Given the description of an element on the screen output the (x, y) to click on. 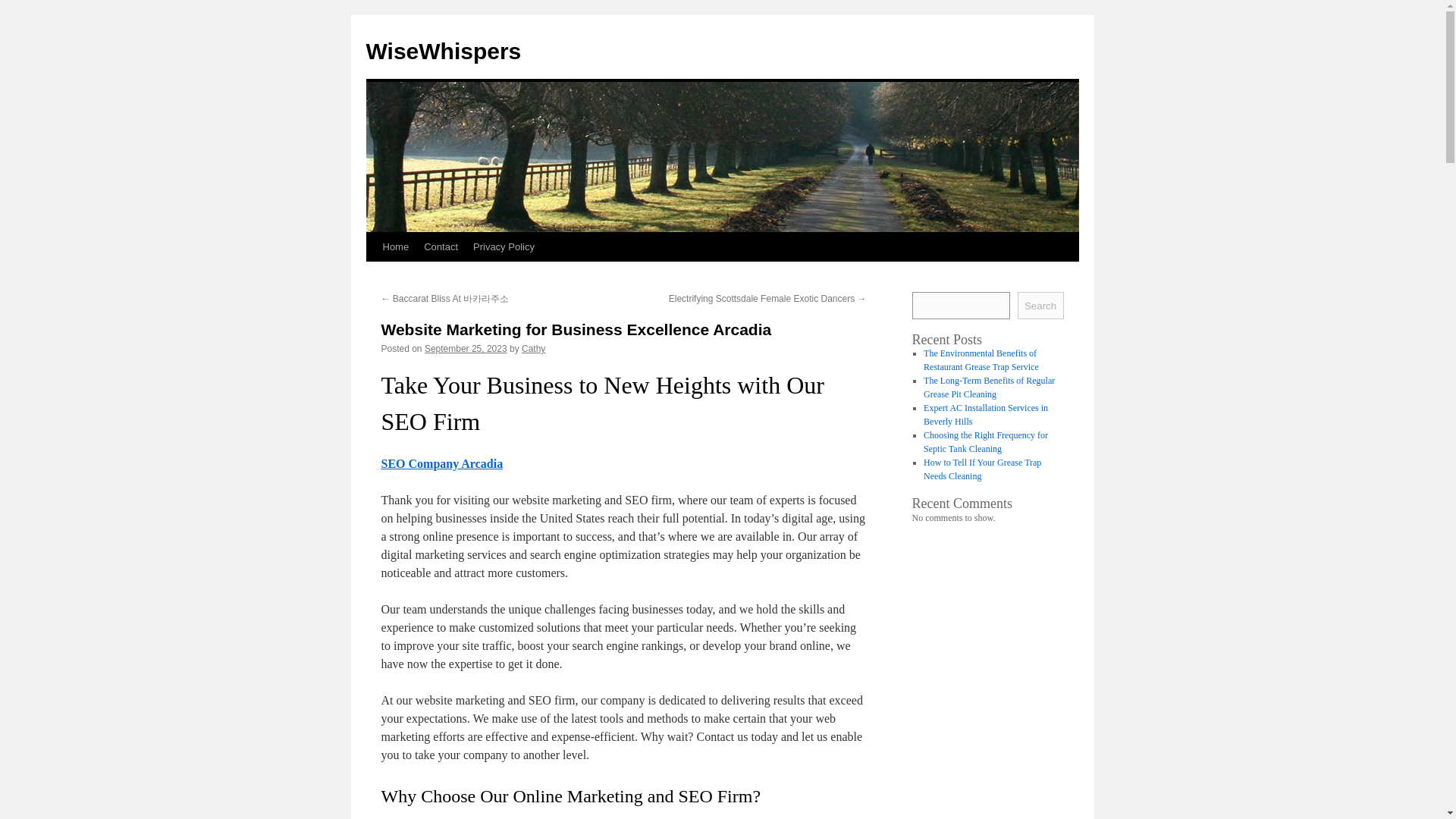
Choosing the Right Frequency for Septic Tank Cleaning (985, 441)
Cathy (532, 348)
Privacy Policy (503, 246)
WiseWhispers (443, 50)
SEO Company Arcadia (441, 463)
Expert AC Installation Services in Beverly Hills (985, 414)
The Environmental Benefits of Restaurant Grease Trap Service (981, 360)
The Long-Term Benefits of Regular Grease Pit Cleaning (988, 387)
Search (1040, 305)
9:24 pm (465, 348)
September 25, 2023 (465, 348)
Contact (440, 246)
How to Tell If Your Grease Trap Needs Cleaning (982, 469)
View all posts by Cathy (532, 348)
Home (395, 246)
